Given the description of an element on the screen output the (x, y) to click on. 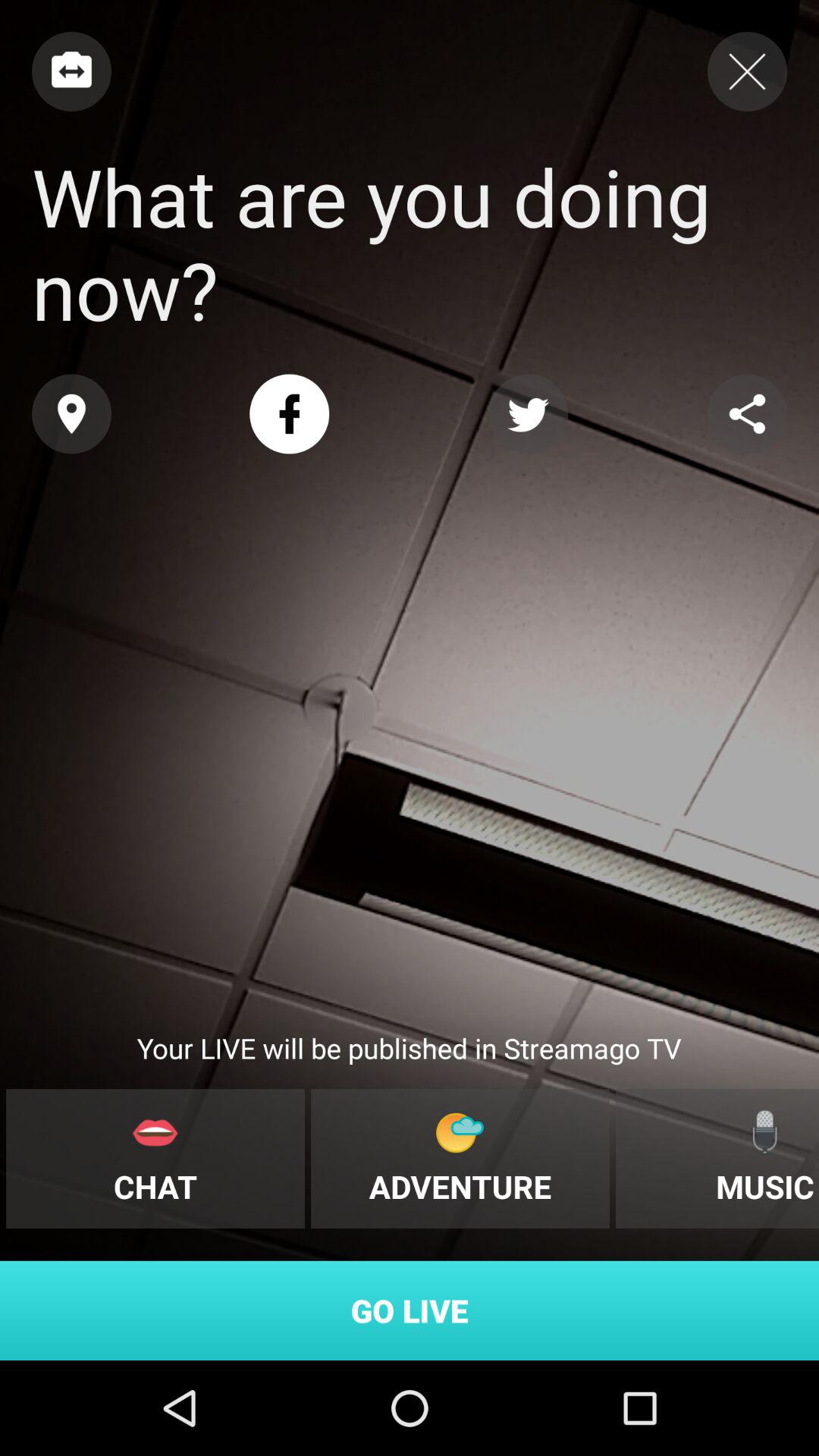
share (747, 413)
